Given the description of an element on the screen output the (x, y) to click on. 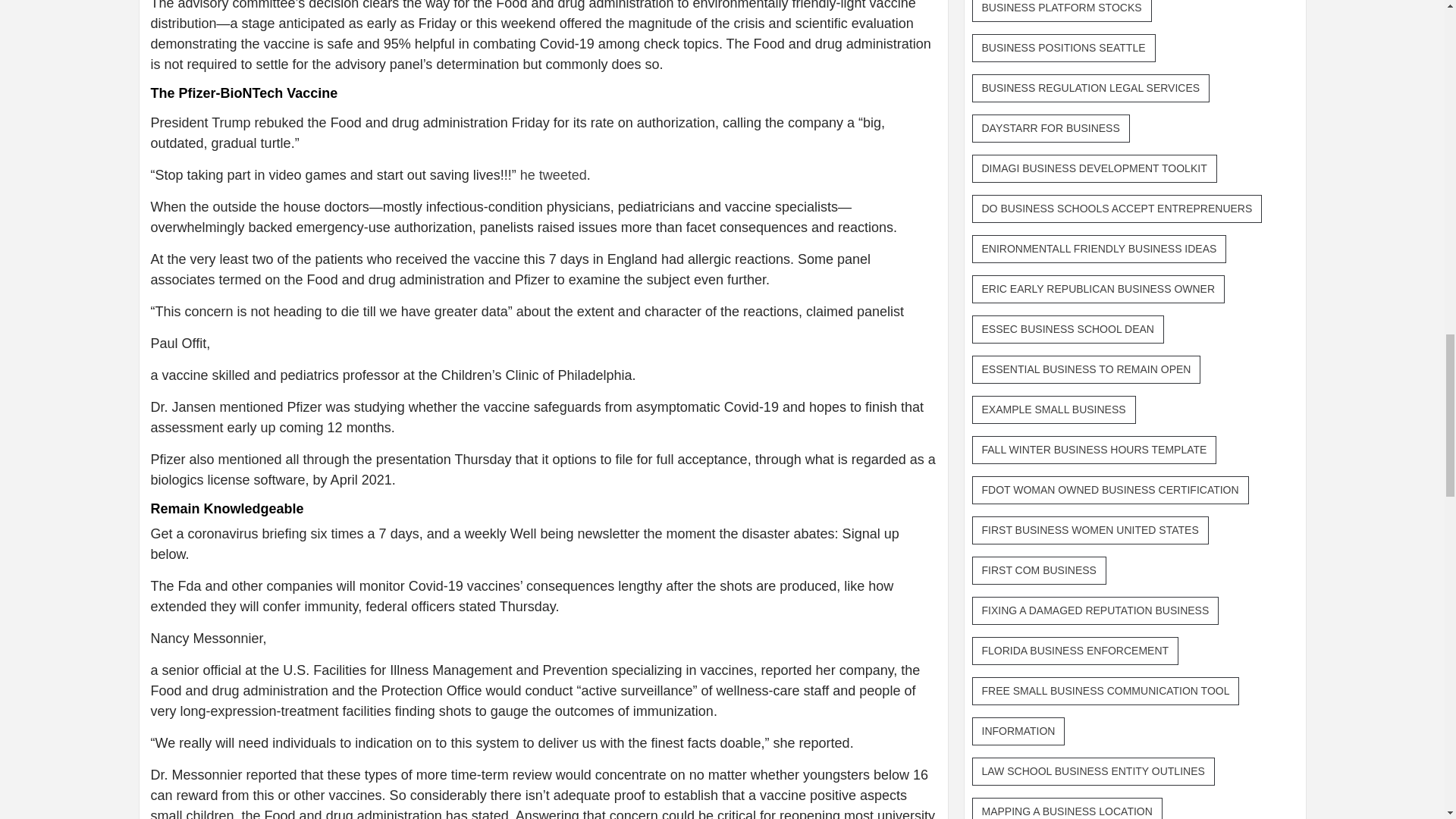
he tweeted (552, 174)
